Given the description of an element on the screen output the (x, y) to click on. 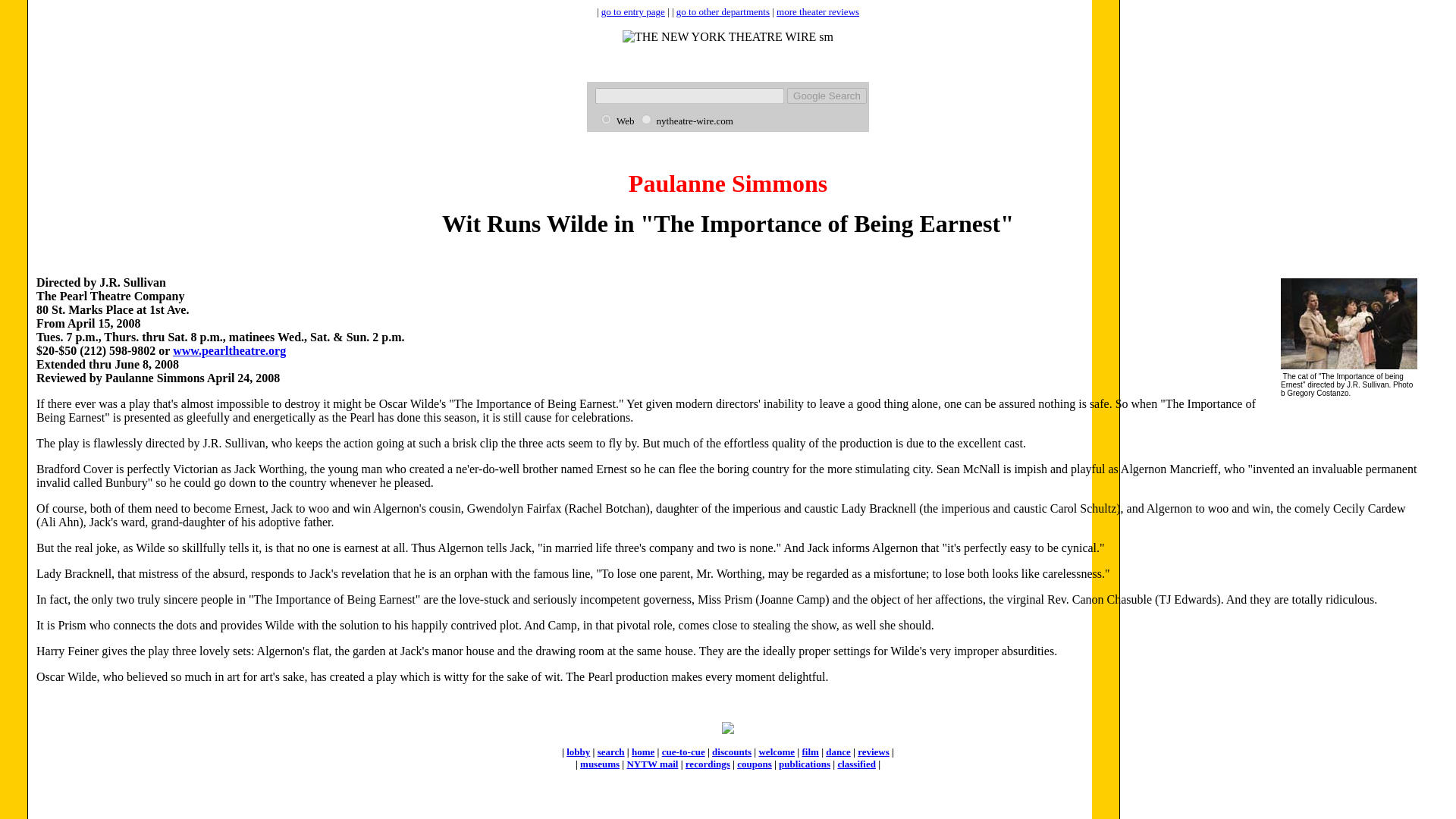
www.pearltheatre.org (229, 350)
classified (856, 763)
welcome (776, 751)
Google Search (826, 95)
go to other departments (723, 11)
coupons (753, 763)
recordings (707, 763)
go to entry page (633, 11)
Google Search (826, 95)
museums (599, 763)
publications (803, 763)
cue-to-cue (683, 751)
discounts (731, 751)
reviews (873, 751)
dance (837, 751)
